Given the description of an element on the screen output the (x, y) to click on. 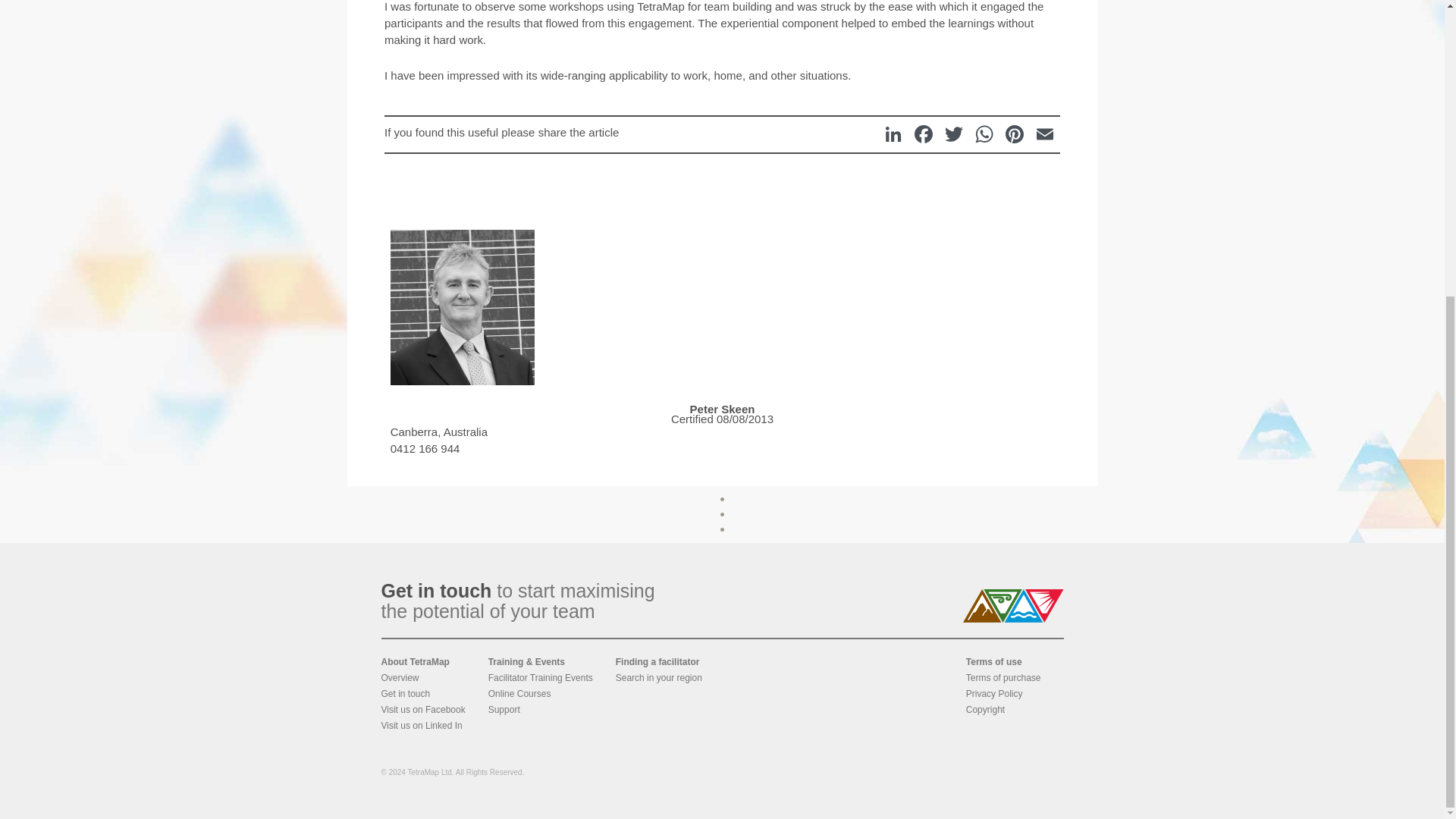
WhatsApp (983, 134)
LinkedIn (892, 134)
Twitter (954, 134)
Pinterest (1013, 134)
Email (1044, 134)
Facebook (923, 134)
